Given the description of an element on the screen output the (x, y) to click on. 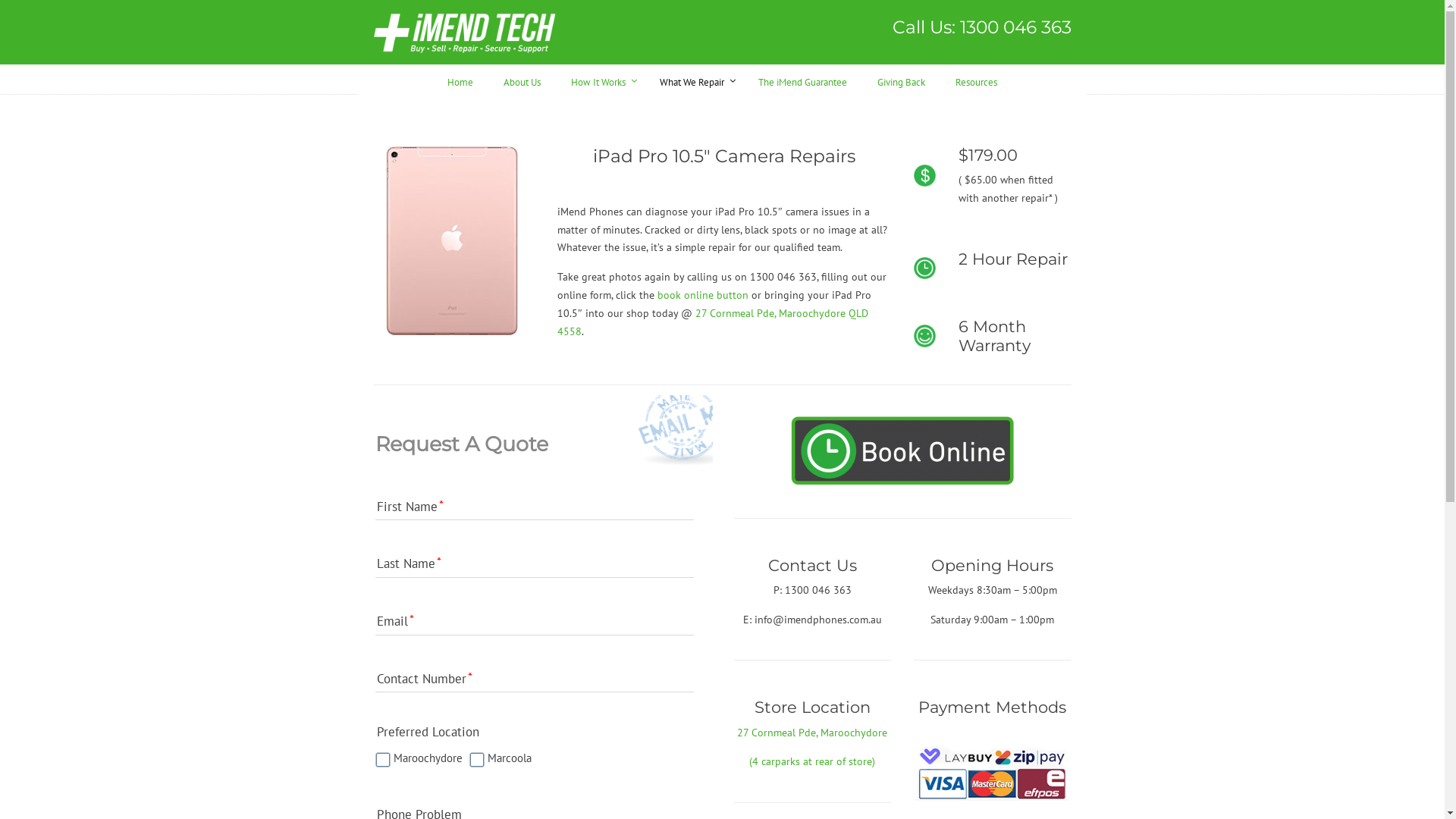
iMend Tech Smart Phone Tablet Repair Element type: text (464, 32)
Giving Back Element type: text (901, 79)
What We Repair Element type: text (693, 79)
Resources Element type: text (976, 79)
Home Element type: text (460, 79)
book online button Element type: text (702, 294)
The iMend Guarantee Element type: text (802, 79)
27 Cornmeal Pde, Maroochydore QLD 4558 Element type: text (712, 322)
27 Cornmeal Pde, Maroochydore Element type: text (812, 731)
About Us Element type: text (521, 79)
How It Works Element type: text (599, 79)
(4 carparks at rear of store) Element type: text (812, 761)
Call Us: 1300 046 363 Element type: text (980, 26)
